Given the description of an element on the screen output the (x, y) to click on. 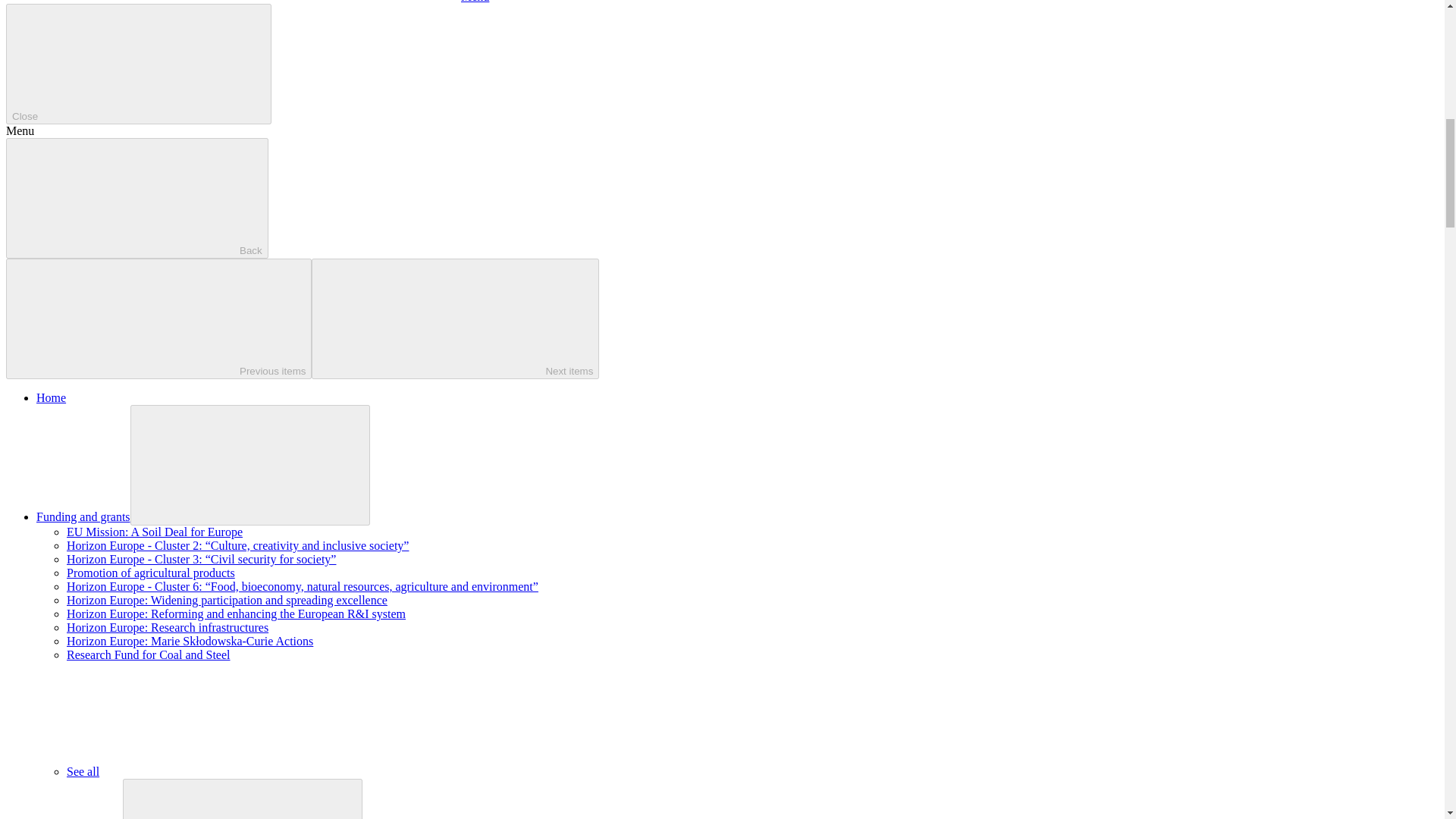
Back (136, 198)
Home (50, 397)
EU Mission: A Soil Deal for Europe (154, 531)
Horizon Europe: Research infrastructures (166, 626)
Funding and grants (83, 516)
Research Fund for Coal and Steel (148, 654)
Close (137, 64)
Next items (454, 318)
See all (196, 771)
Promotion of agricultural products (150, 572)
Previous items (158, 318)
